Given the description of an element on the screen output the (x, y) to click on. 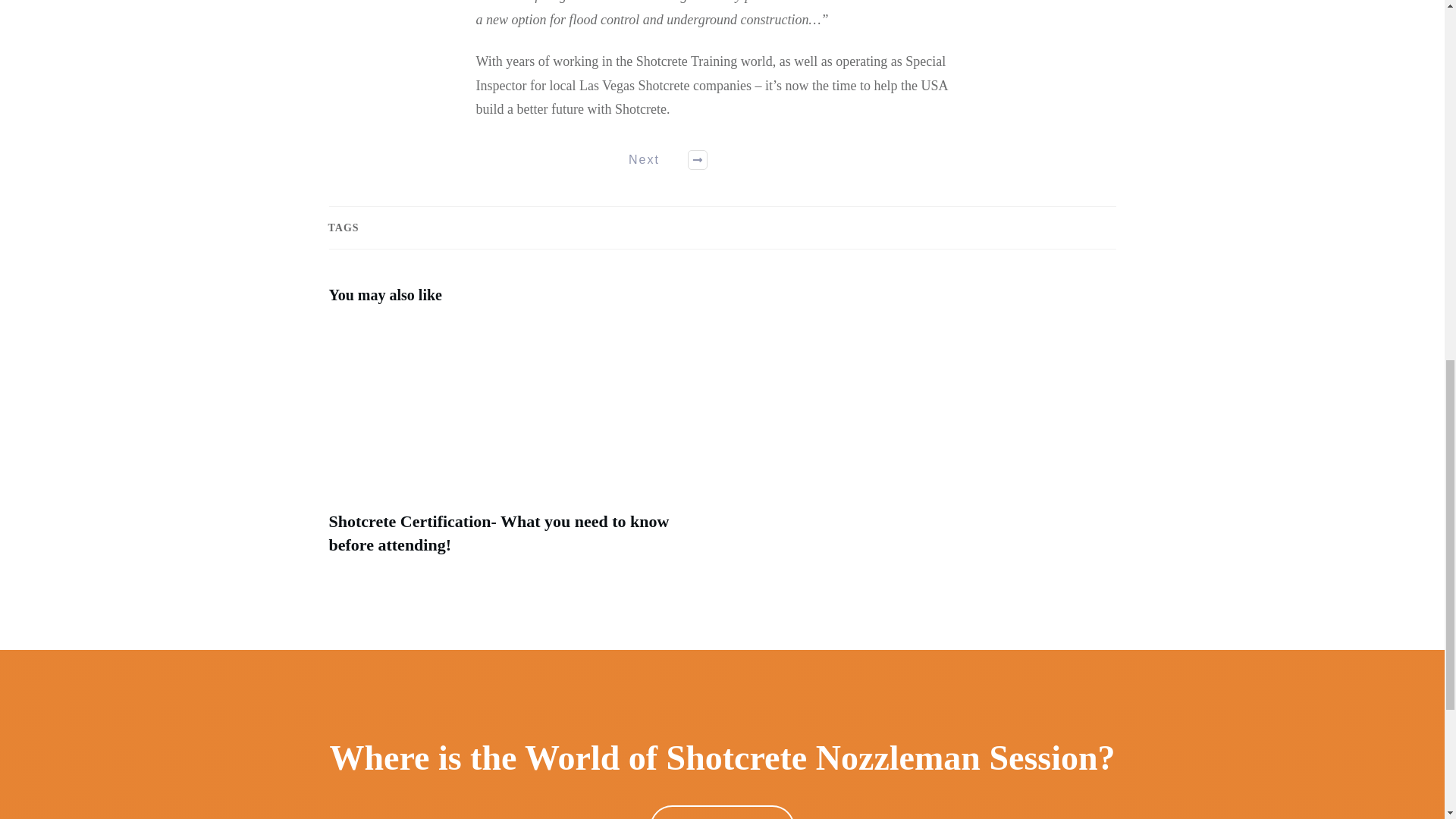
Next (659, 159)
SESSION DETAILS (721, 812)
